Given the description of an element on the screen output the (x, y) to click on. 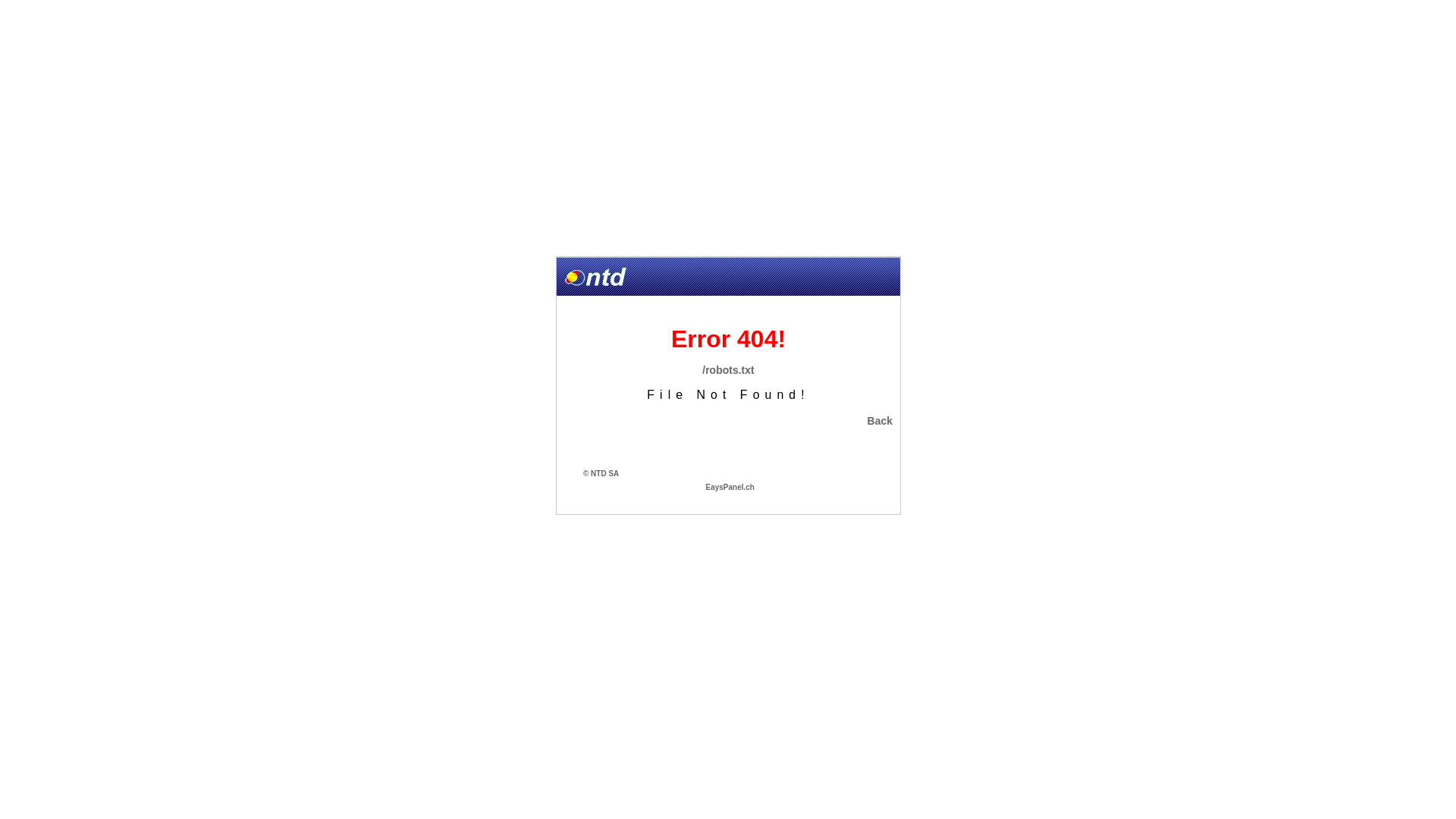
Back Element type: text (879, 420)
EaysPanel.ch Element type: text (729, 486)
